Given the description of an element on the screen output the (x, y) to click on. 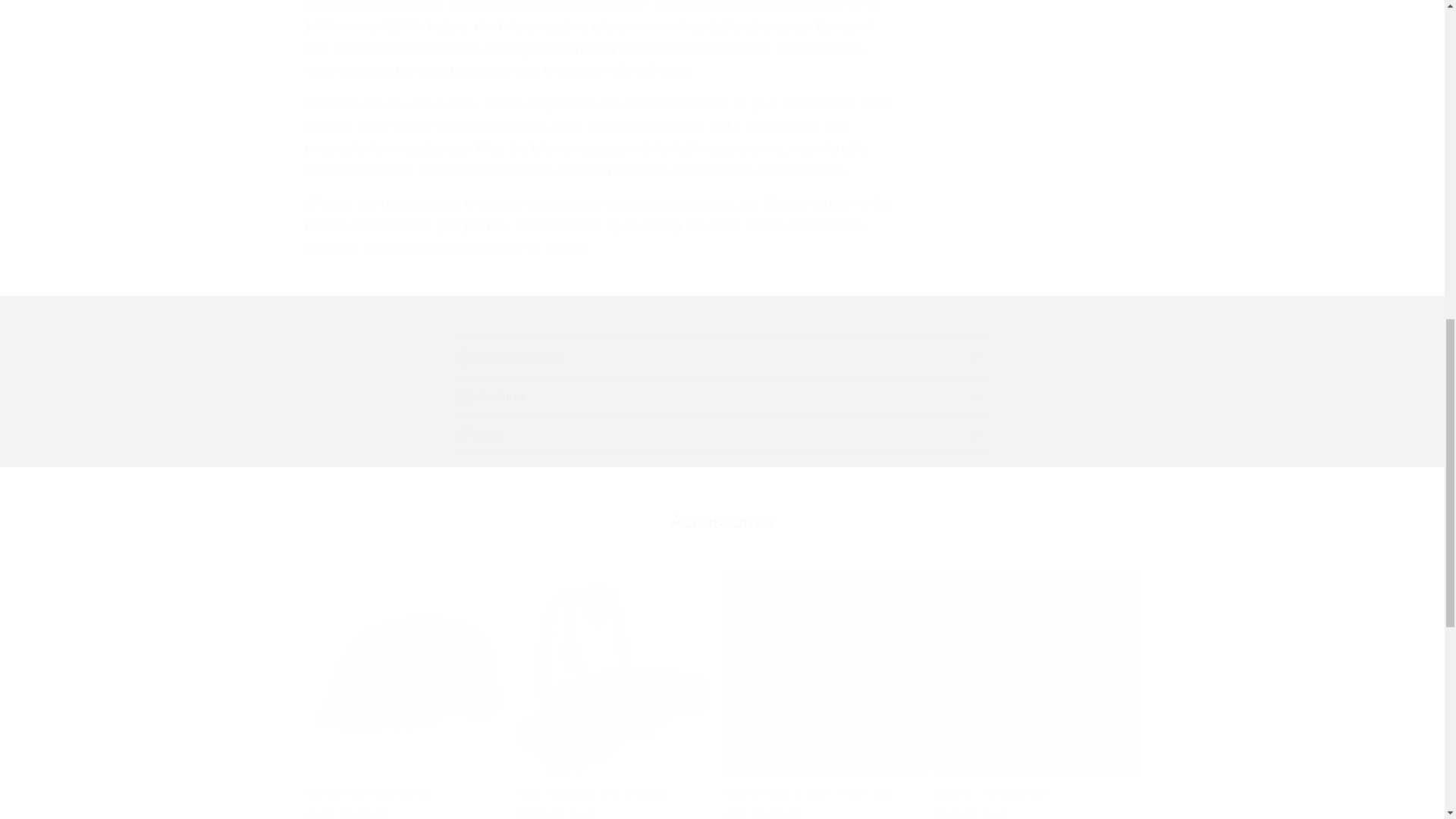
Accessories (721, 521)
